Given the description of an element on the screen output the (x, y) to click on. 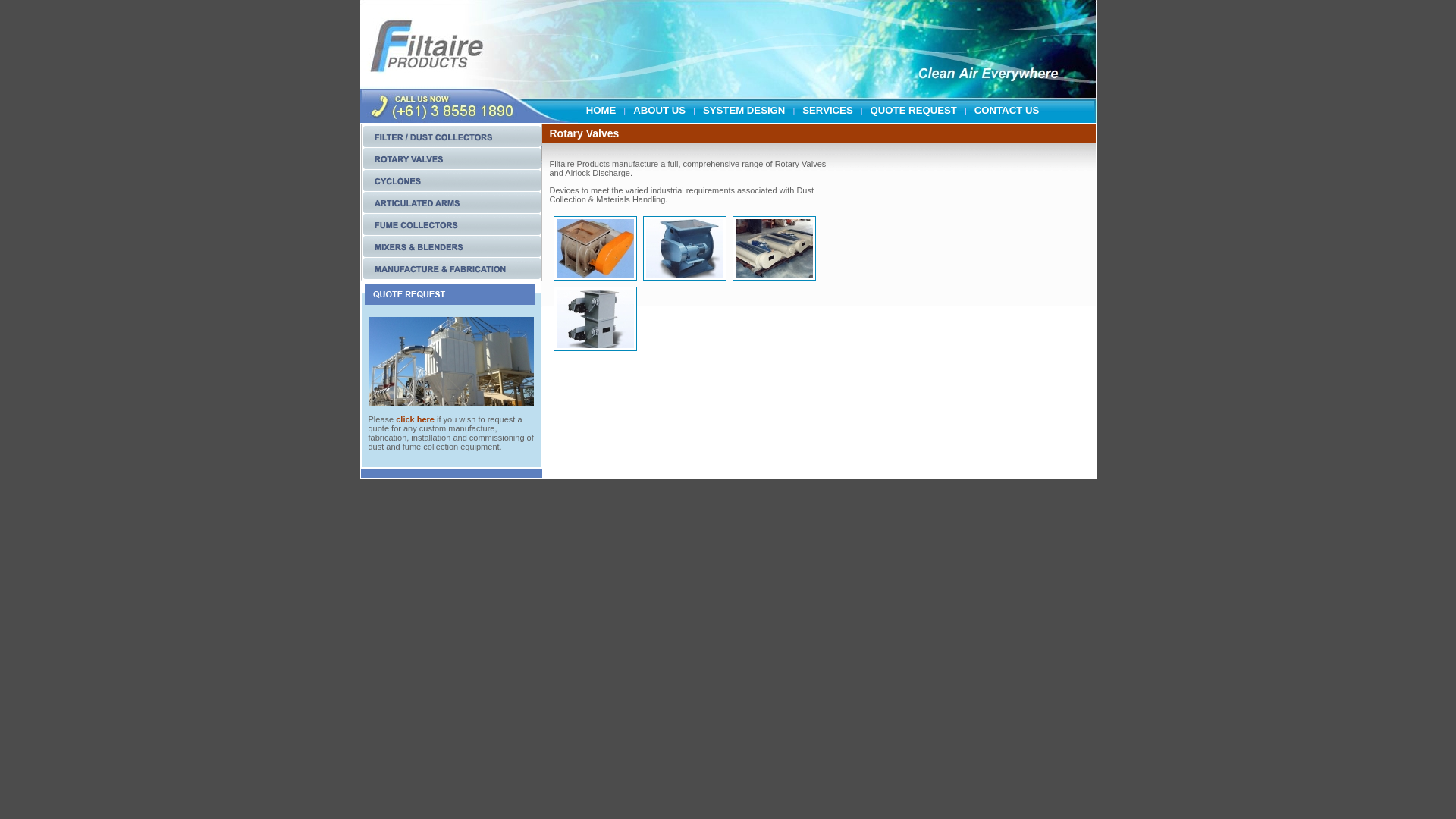
Fume Collectors Element type: hover (451, 232)
QUOTE REQUEST Element type: text (913, 101)
s Element type: hover (451, 166)
SYSTEM DESIGN Element type: text (743, 101)
  Element type: hover (451, 210)
click here Element type: text (414, 418)
HOME Element type: text (601, 101)
SERVICES Element type: text (826, 101)
CONTACT US Element type: text (1006, 101)
ABOUT US Element type: text (659, 101)
